Given the description of an element on the screen output the (x, y) to click on. 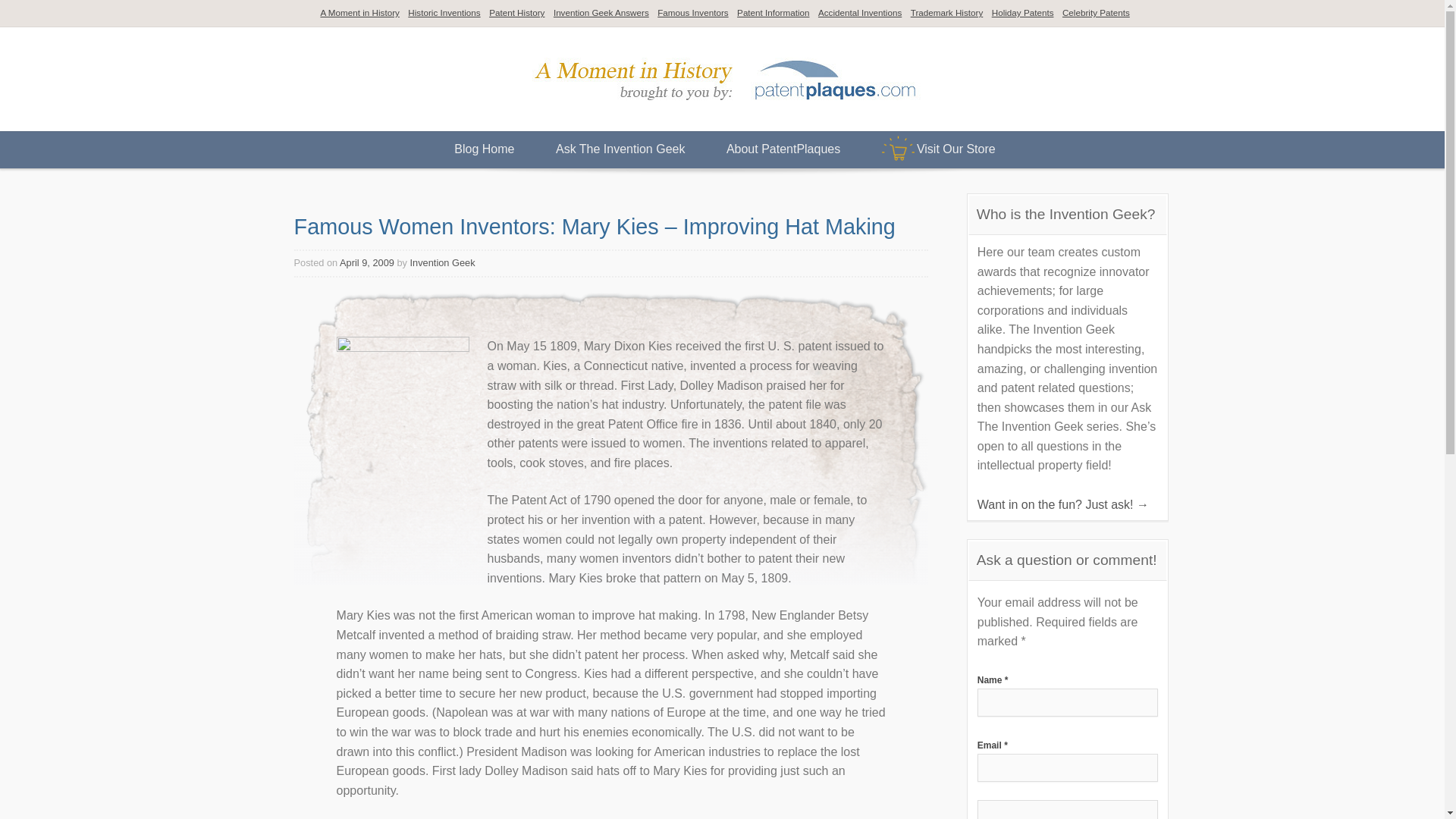
A Moment in History (359, 13)
Invention Geek Answers (600, 13)
Ask The Invention Geek (620, 149)
Holiday Patents (1022, 13)
Celebrity Patents (1095, 13)
April 9, 2009 (366, 262)
Accidental Inventions (859, 13)
Historic Inventions (444, 13)
PatentPlaques Blog (724, 109)
Visit Our Store (938, 149)
Invention Geek (443, 262)
About PatentPlaques (783, 149)
Patent History (516, 13)
Famous Inventors (692, 13)
